Given the description of an element on the screen output the (x, y) to click on. 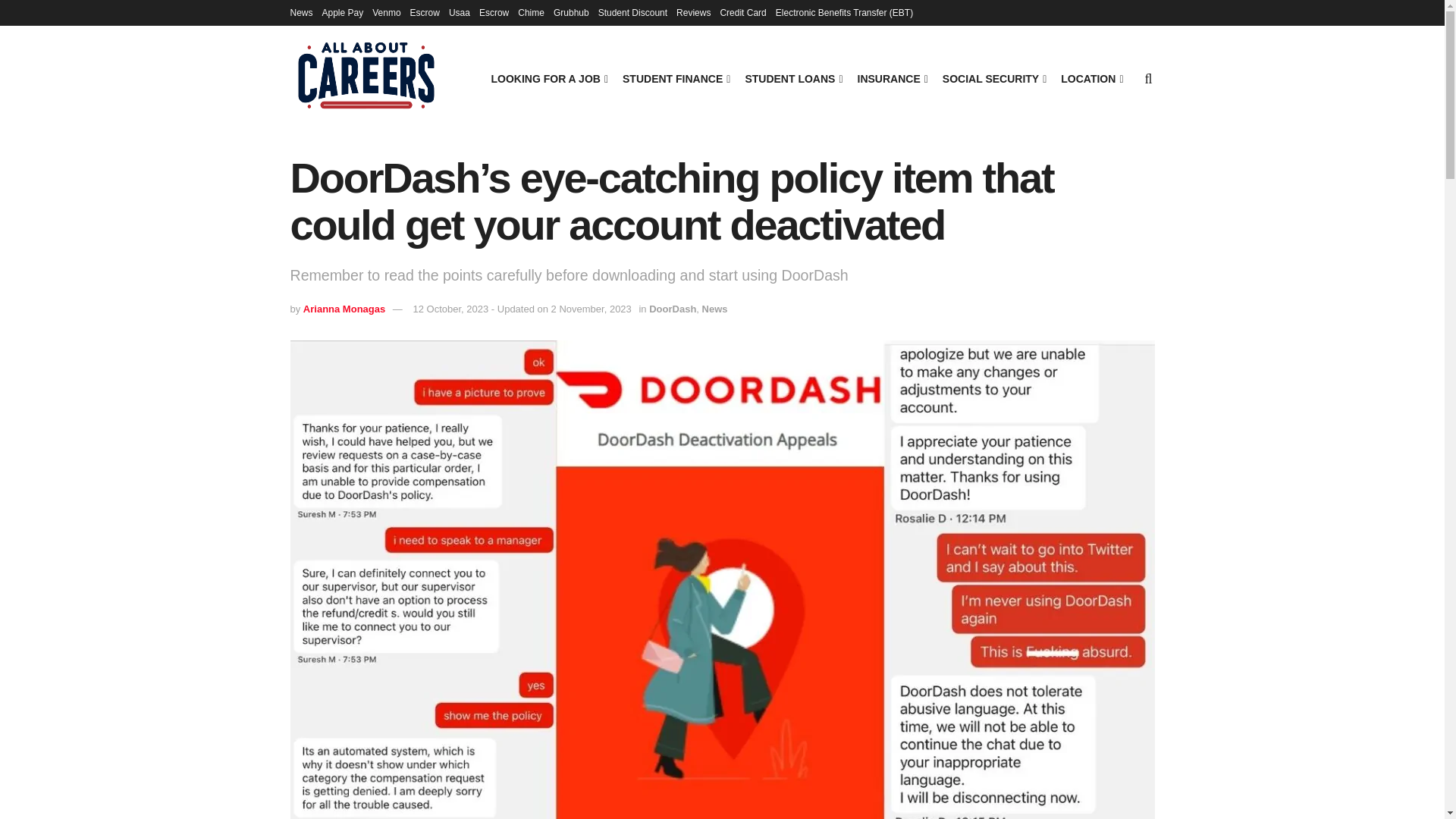
Student Discount (632, 12)
Credit Card (742, 12)
STUDENT FINANCE (675, 78)
Grubhub (571, 12)
Reviews (693, 12)
Apple Pay (342, 12)
Escrow (493, 12)
Chime (531, 12)
Escrow (424, 12)
LOOKING FOR A JOB (547, 78)
Venmo (386, 12)
